Given the description of an element on the screen output the (x, y) to click on. 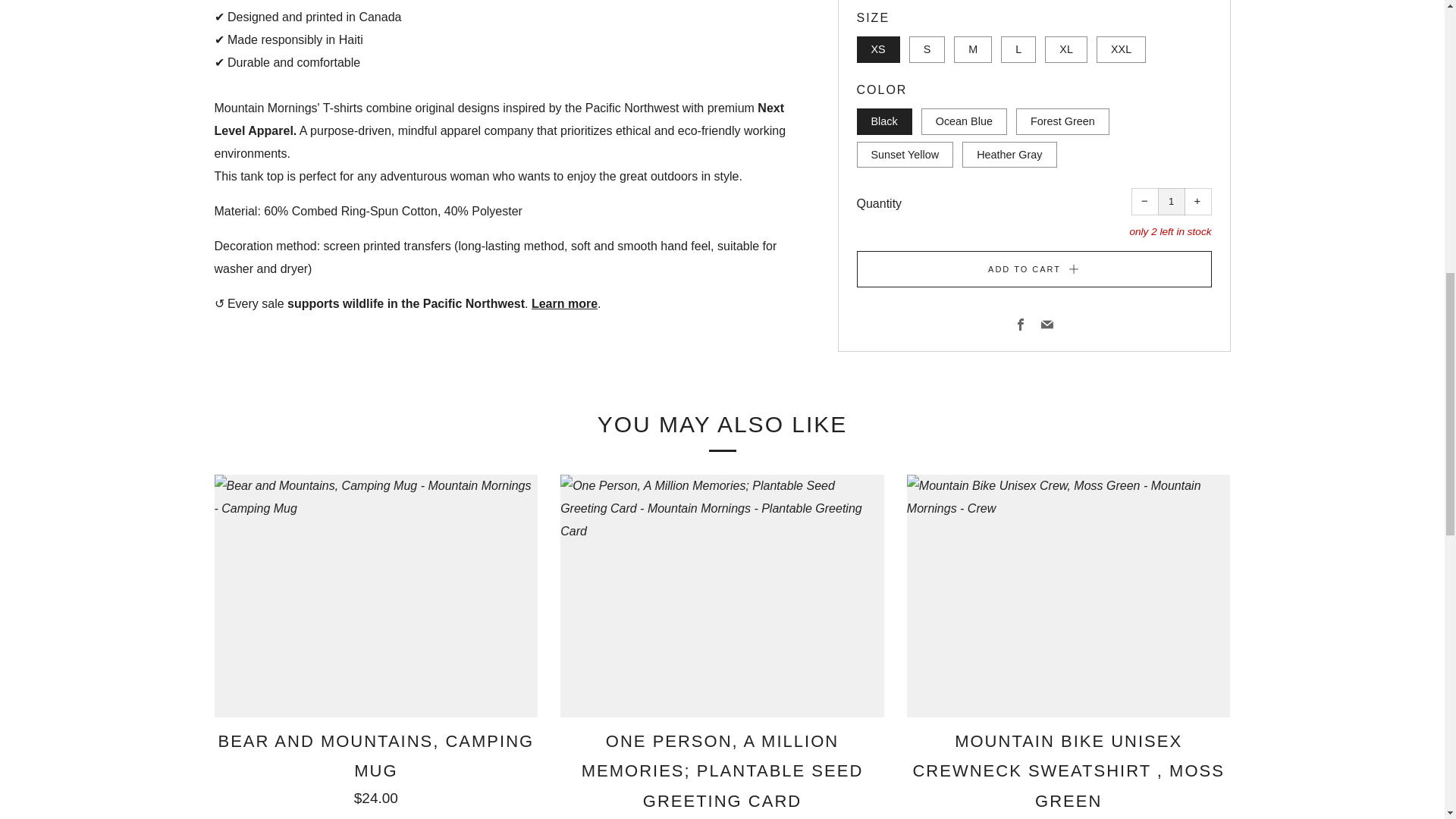
Bear and Mountains, Camping Mug (376, 765)
Mountain Bike Unisex Crewneck Sweatshirt , Moss Green (1068, 596)
Bear and Mountains, Camping Mug (376, 596)
One Person, A Million Memories; Plantable Seed Greeting Card (721, 772)
Mountain Bike Unisex Crewneck Sweatshirt , Moss Green (1068, 772)
One Person, A Million Memories; Plantable Seed Greeting Card (721, 596)
